Given the description of an element on the screen output the (x, y) to click on. 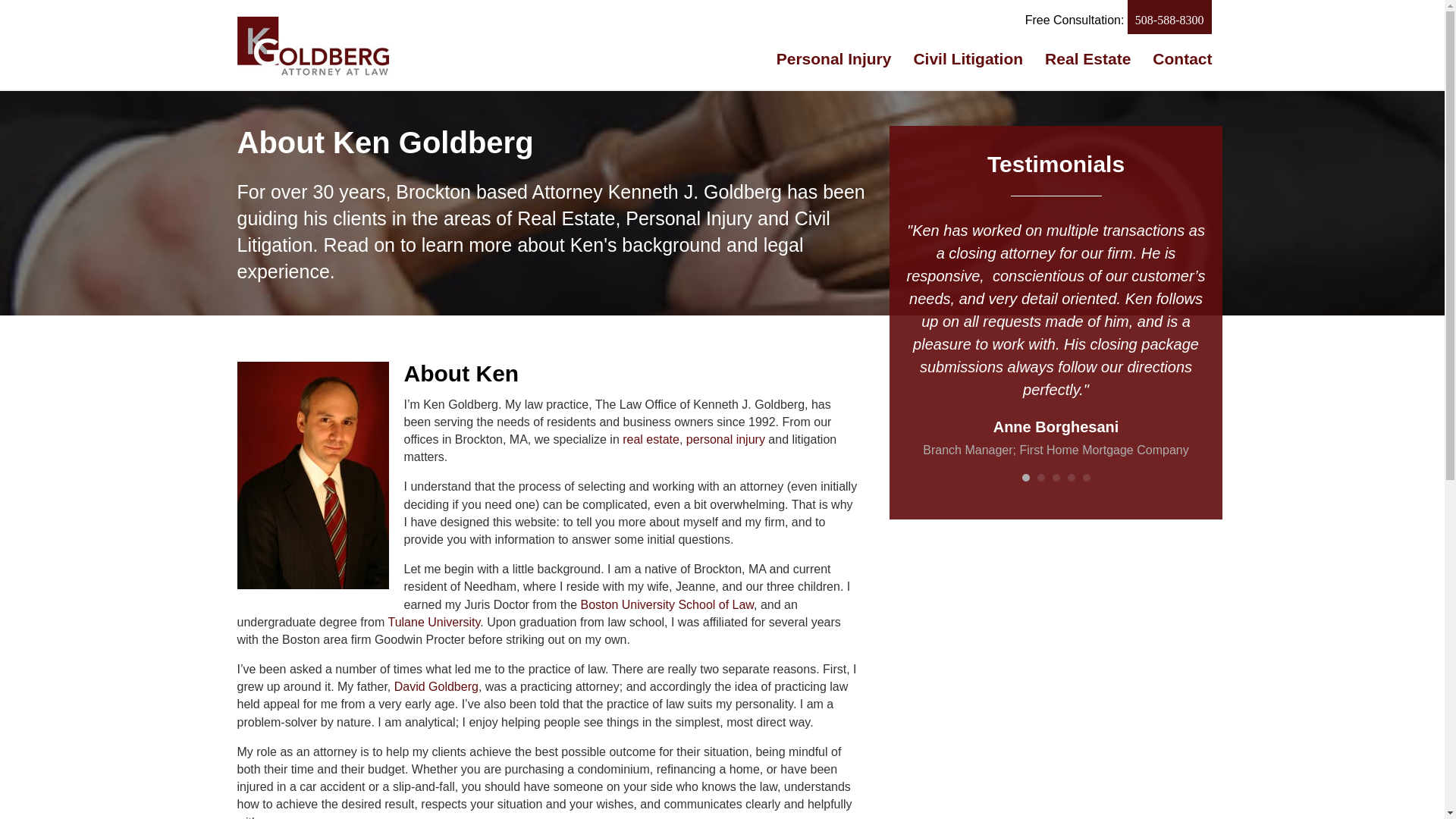
Boston University School of Law (666, 603)
2 (1040, 477)
personal injury (725, 439)
5 (1086, 477)
1 (1025, 477)
Personal Injury (833, 58)
508-588-8300 (1168, 17)
Tulane University (433, 621)
Real Estate (1087, 58)
real estate (651, 439)
3 (1055, 477)
kglegal-small-284x111 (311, 46)
David Goldberg (436, 686)
Contact (1182, 58)
4 (1071, 477)
